Given the description of an element on the screen output the (x, y) to click on. 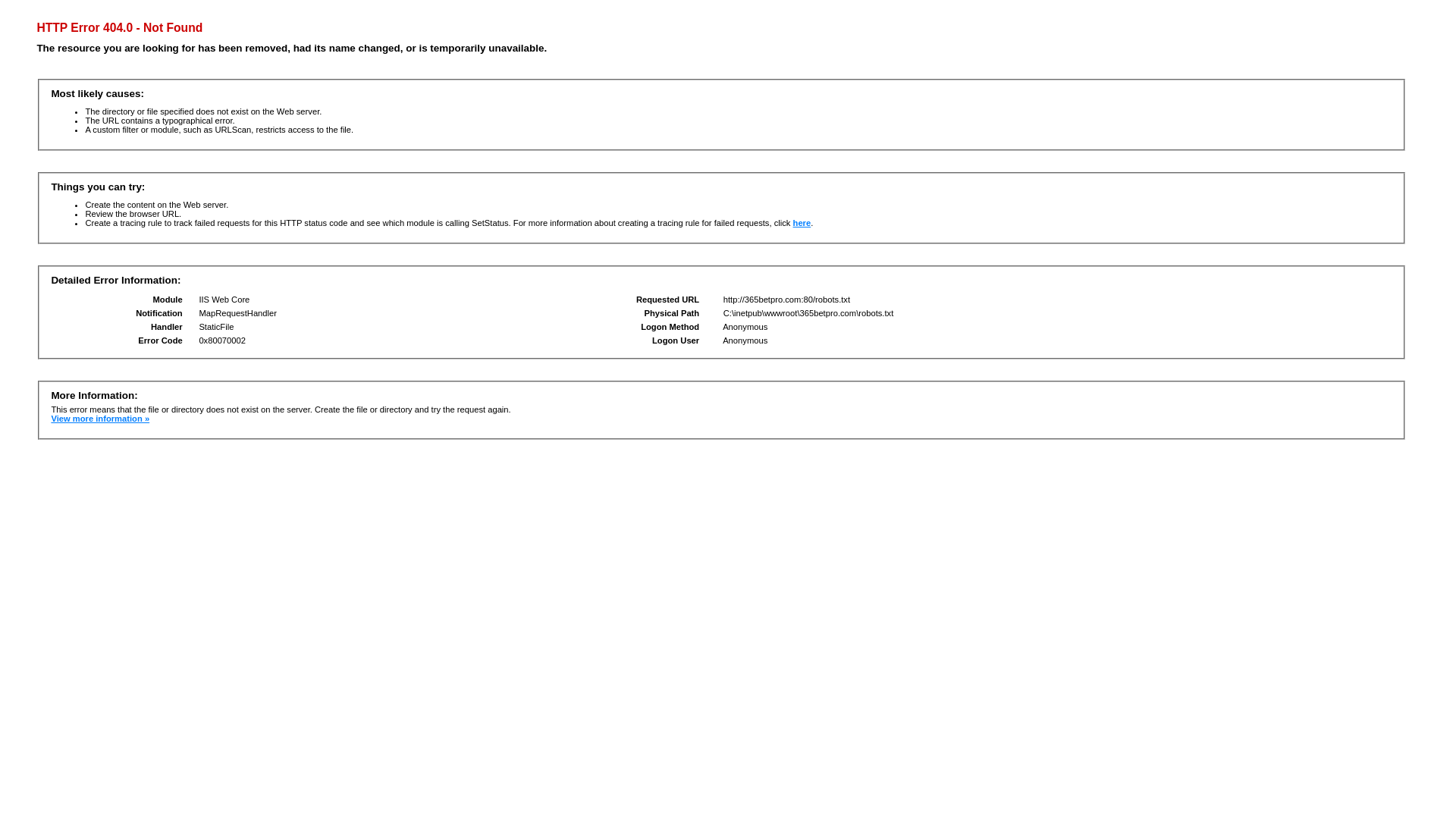
here Element type: text (802, 222)
